Given the description of an element on the screen output the (x, y) to click on. 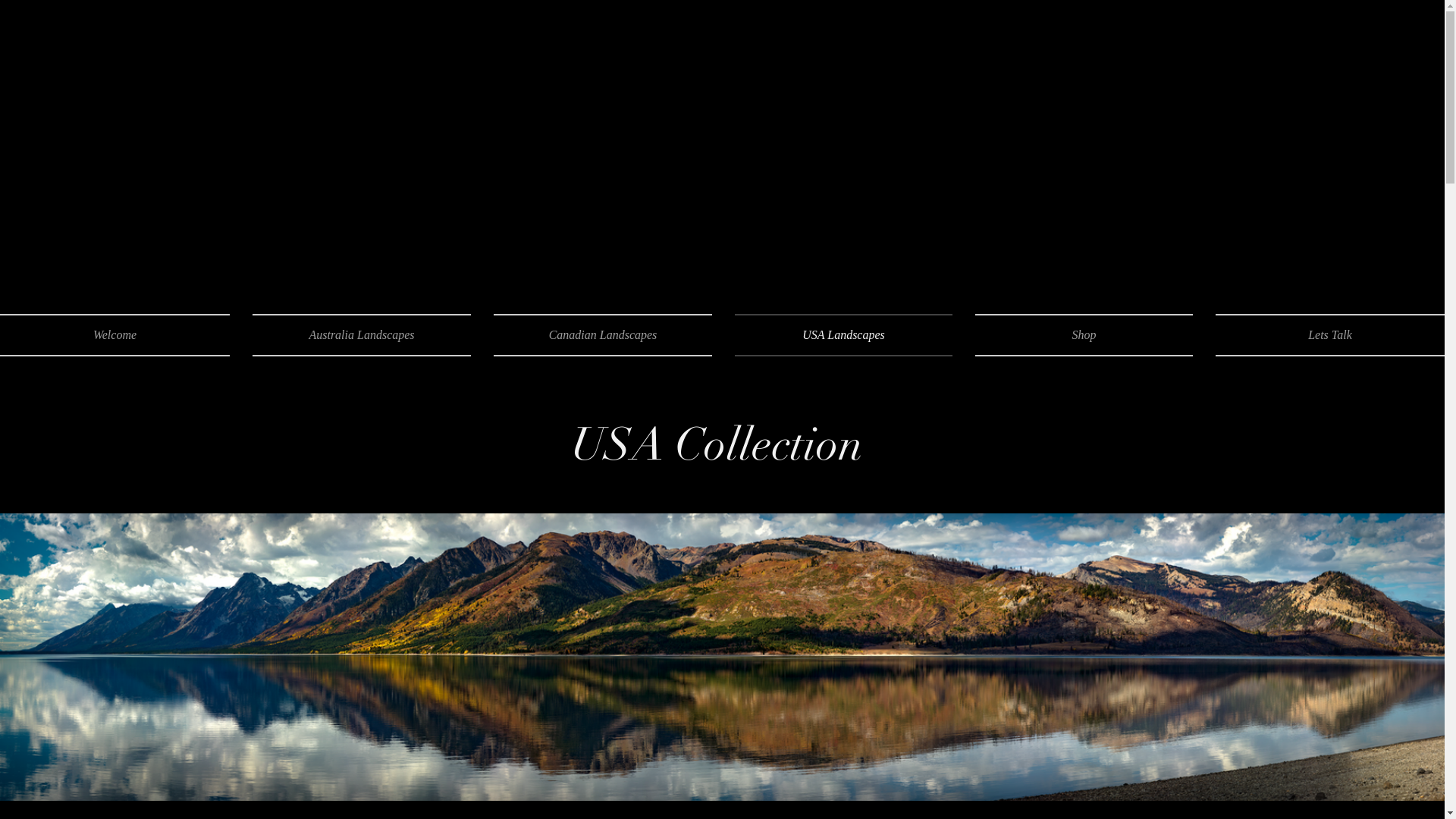
Canadian Landscapes Element type: text (602, 334)
USA Landscapes Element type: text (843, 334)
Lets Talk Element type: text (1324, 334)
Welcome Element type: text (120, 334)
Shop Element type: text (1083, 334)
Australia Landscapes Element type: text (361, 334)
